Given the description of an element on the screen output the (x, y) to click on. 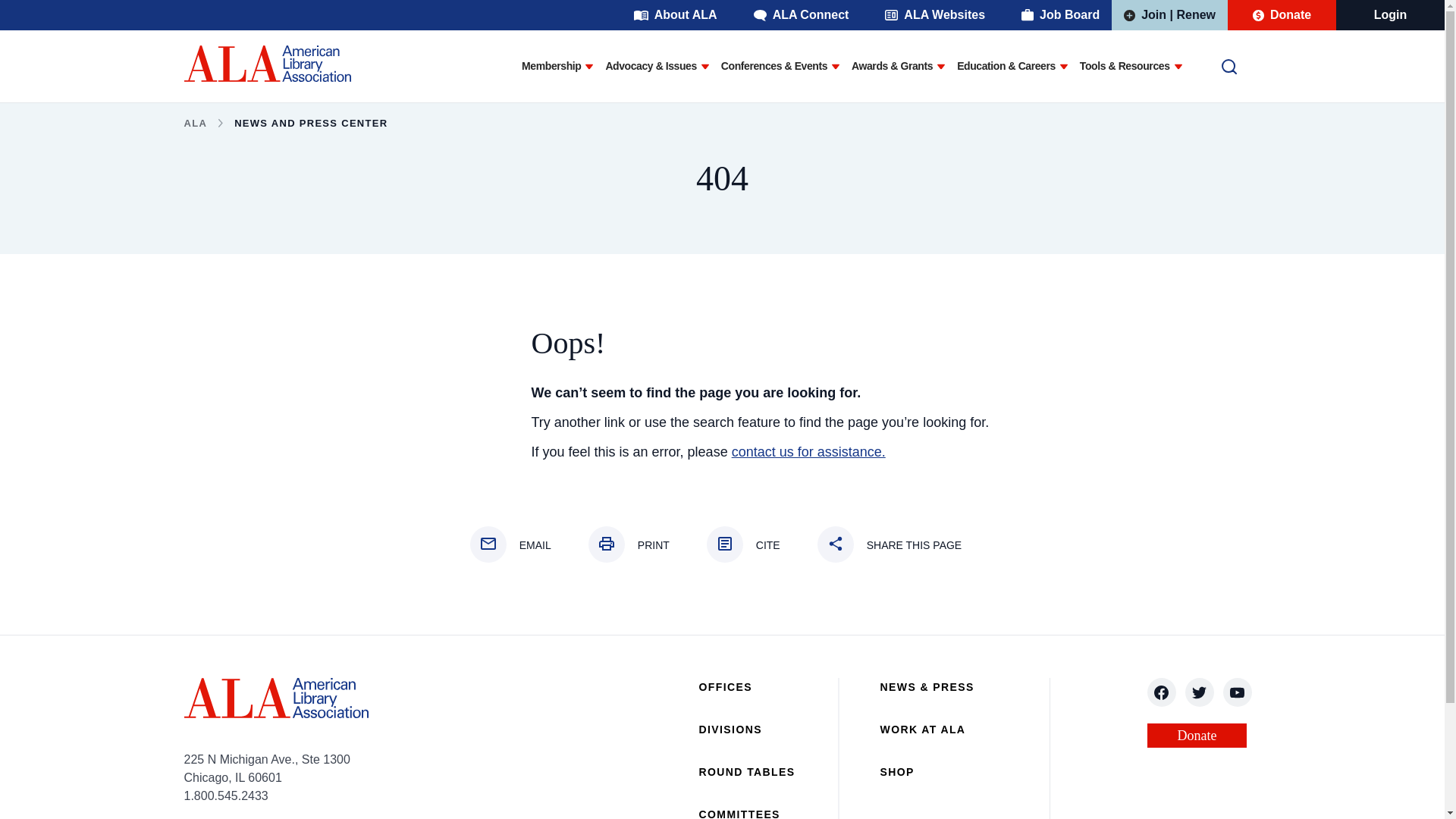
Donate (1281, 15)
Job Board (1060, 15)
ALA Websites (934, 15)
Login (1390, 15)
Login (1390, 15)
Membership (550, 66)
Membership (550, 66)
Donate (1281, 15)
ALA Connect (801, 15)
About ALA (675, 15)
ALA Websites (934, 15)
ALA Connect (801, 15)
Job Board (1060, 15)
About ALA (675, 15)
